Given the description of an element on the screen output the (x, y) to click on. 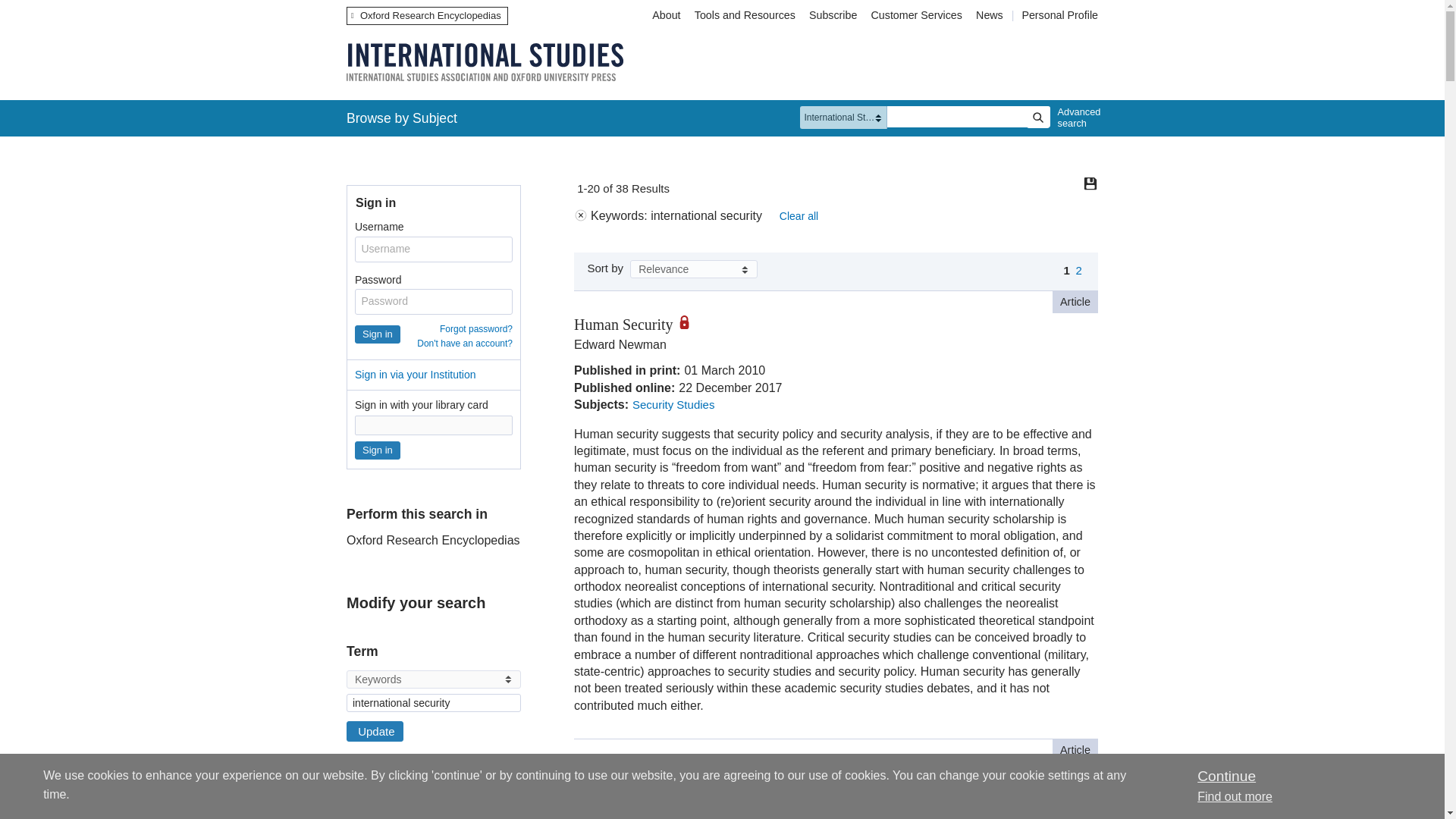
Sign in (377, 450)
Advanced search (1075, 117)
Tools and Resources (744, 15)
restricted access (690, 322)
Subscribe (832, 15)
 Update (374, 731)
Personal Profile (1059, 15)
Continue (1225, 775)
About (665, 15)
international security (433, 702)
News (991, 15)
Sign in (377, 334)
Search (1037, 117)
Forgot password? (475, 328)
Jump to Content (55, 11)
